Given the description of an element on the screen output the (x, y) to click on. 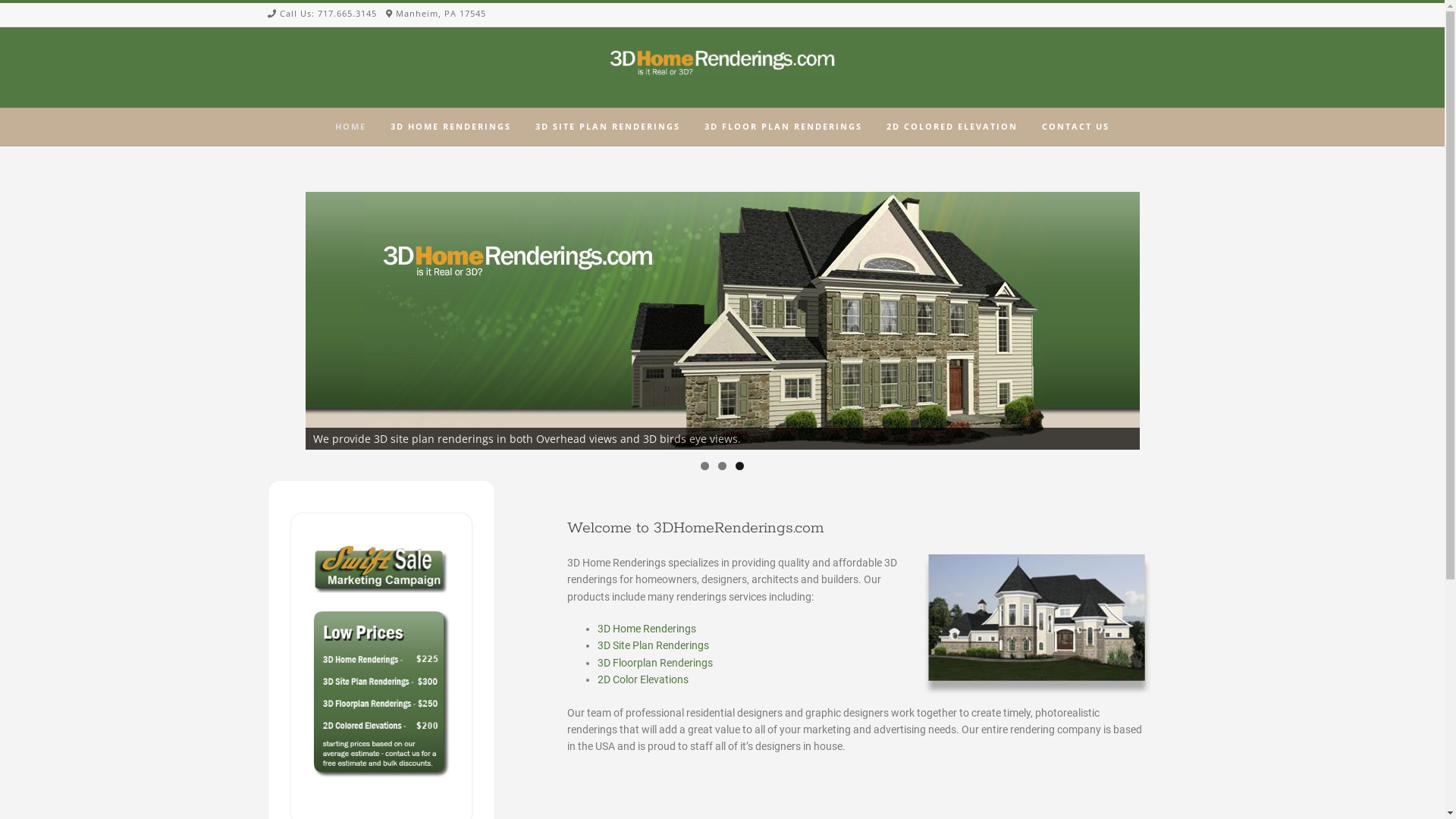
2D Color Elevations Element type: text (642, 679)
2 Element type: text (722, 465)
3D FLOOR PLAN RENDERINGS Element type: text (783, 127)
3 Element type: text (739, 465)
Home 2 Element type: hover (721, 320)
3D Home Renderings Element type: text (646, 628)
3D Site Plan Renderings Element type: text (653, 645)
CONTACT US Element type: text (1075, 127)
1 Element type: text (704, 465)
3D Floorplan Renderings Element type: text (654, 662)
2D COLORED ELEVATION Element type: text (951, 127)
3D HOME RENDERINGS Element type: text (450, 127)
3D SITE PLAN RENDERINGS Element type: text (607, 127)
HOME Element type: text (350, 127)
